Given the description of an element on the screen output the (x, y) to click on. 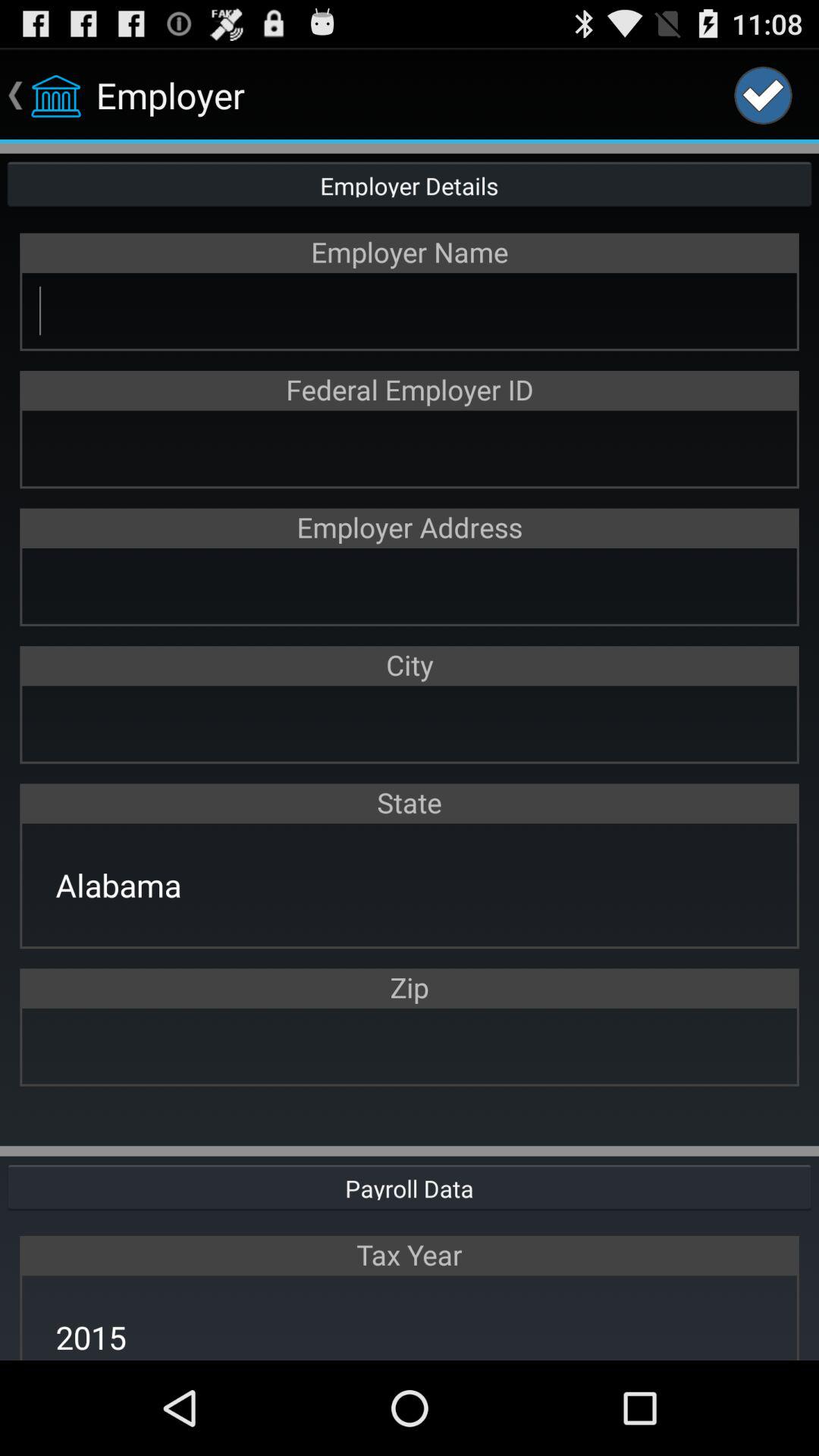
click payroll data icon (409, 1185)
